Given the description of an element on the screen output the (x, y) to click on. 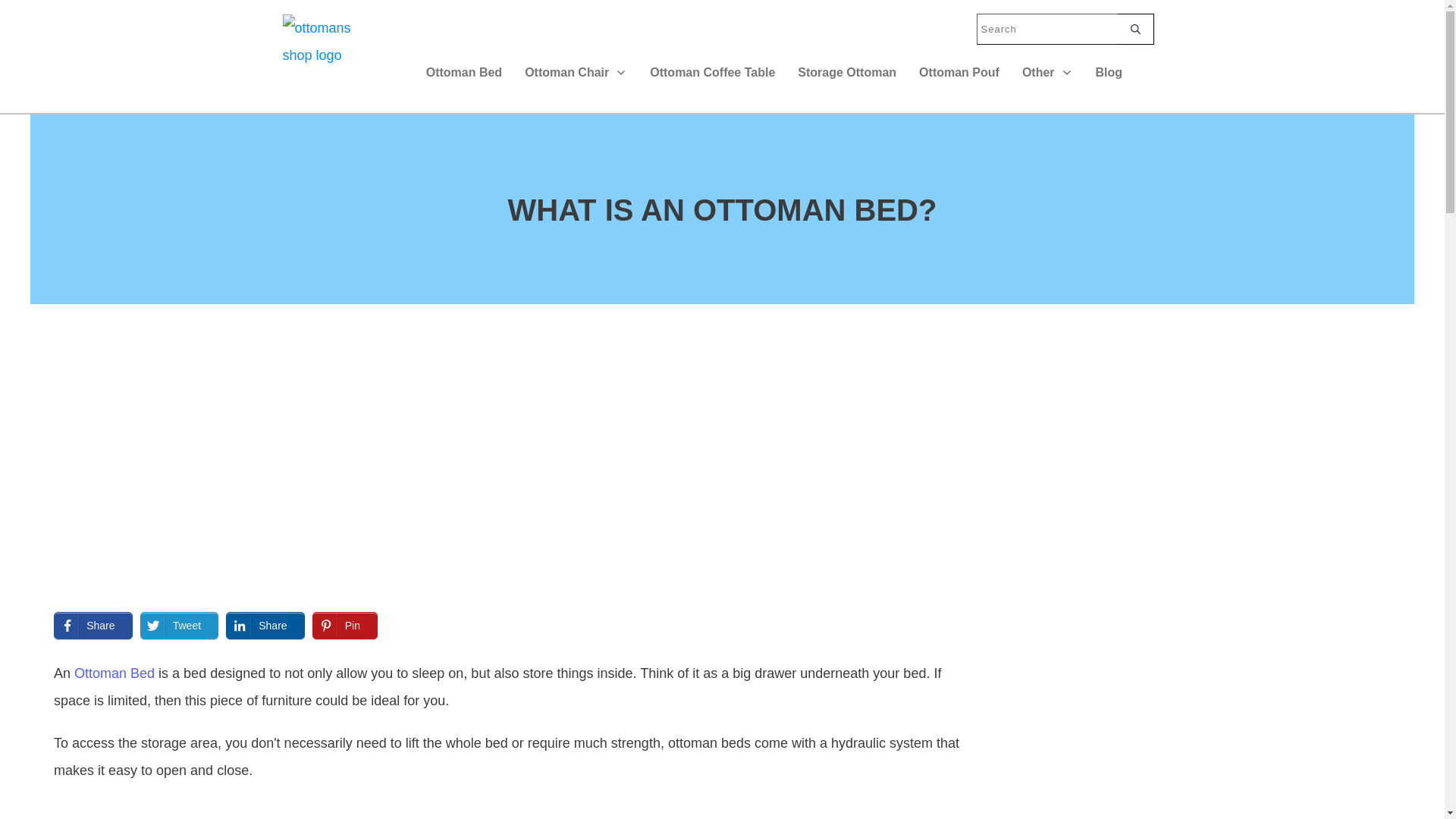
Pin (337, 625)
Ottoman Chair (575, 72)
Other (1047, 72)
What Is an Ottoman Bed? (516, 444)
Ottoman Coffee Table (711, 72)
Ottoman Bed (464, 72)
Share (257, 625)
Storage Ottoman (846, 72)
Blog (1109, 72)
